Given the description of an element on the screen output the (x, y) to click on. 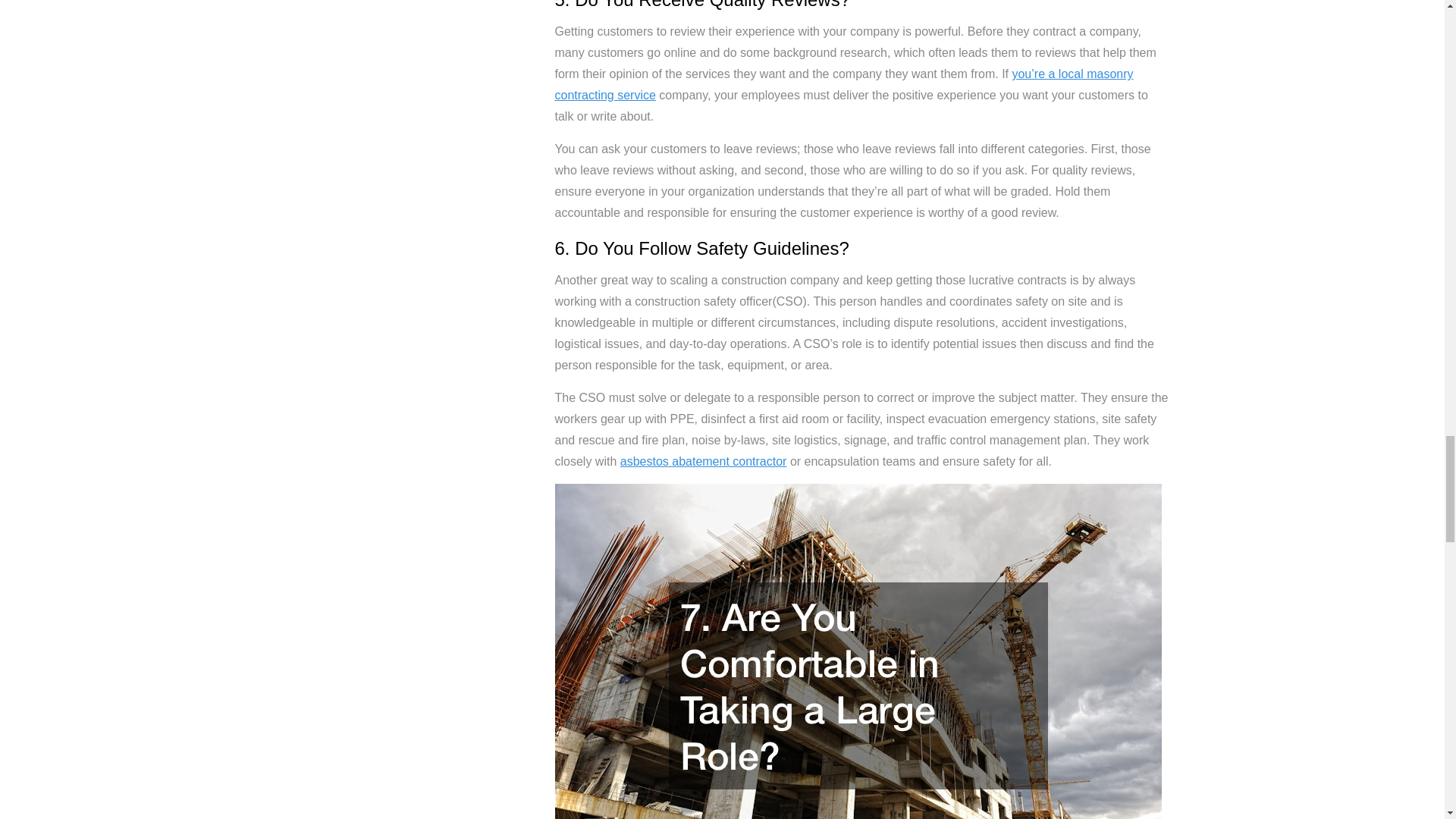
asbestos abatement contractor (703, 461)
